Given the description of an element on the screen output the (x, y) to click on. 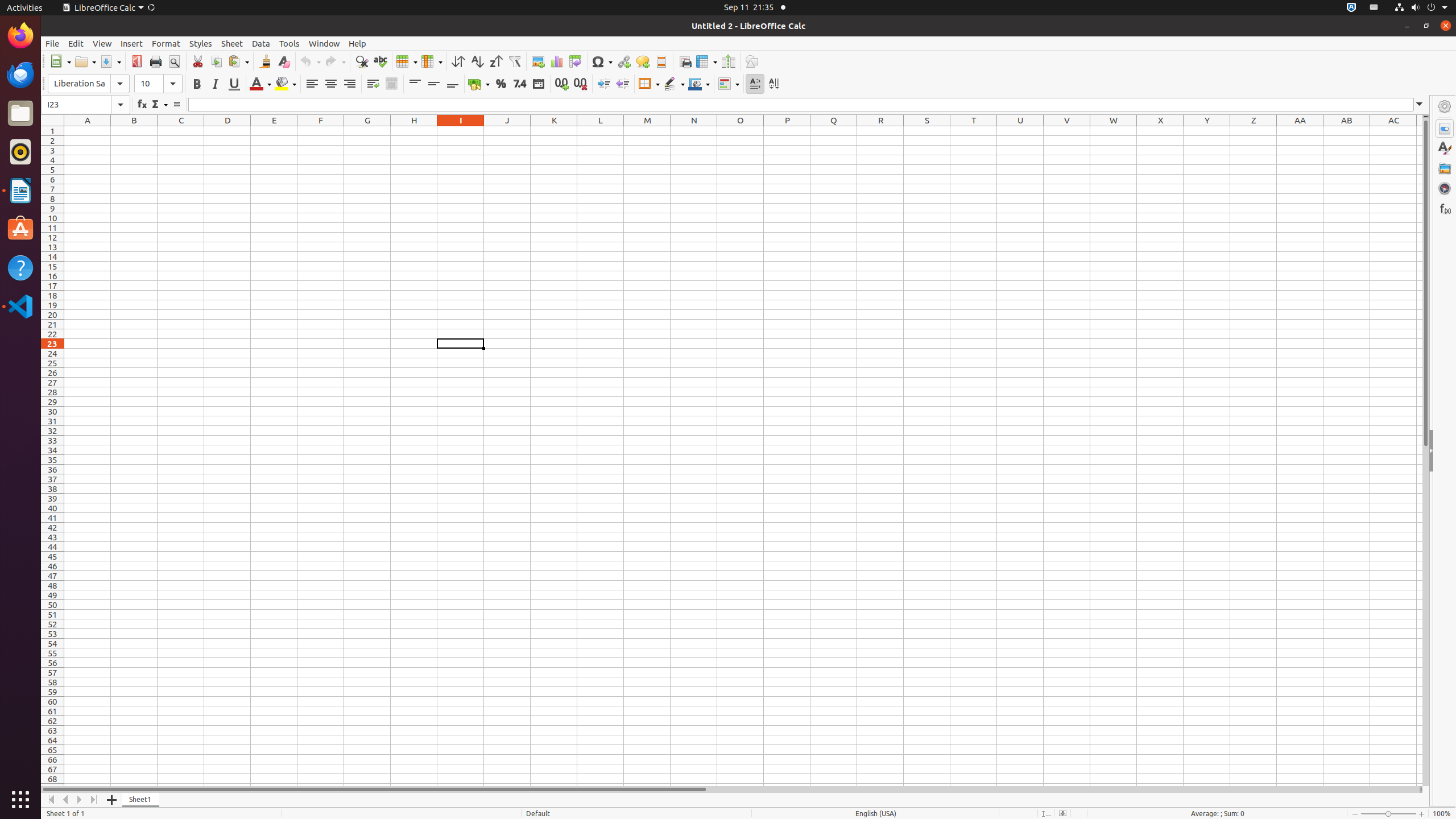
Save Element type: push-button (109, 61)
Move Left Element type: push-button (65, 799)
Font Name Element type: combo-box (88, 83)
Percent Element type: push-button (500, 83)
